Given the description of an element on the screen output the (x, y) to click on. 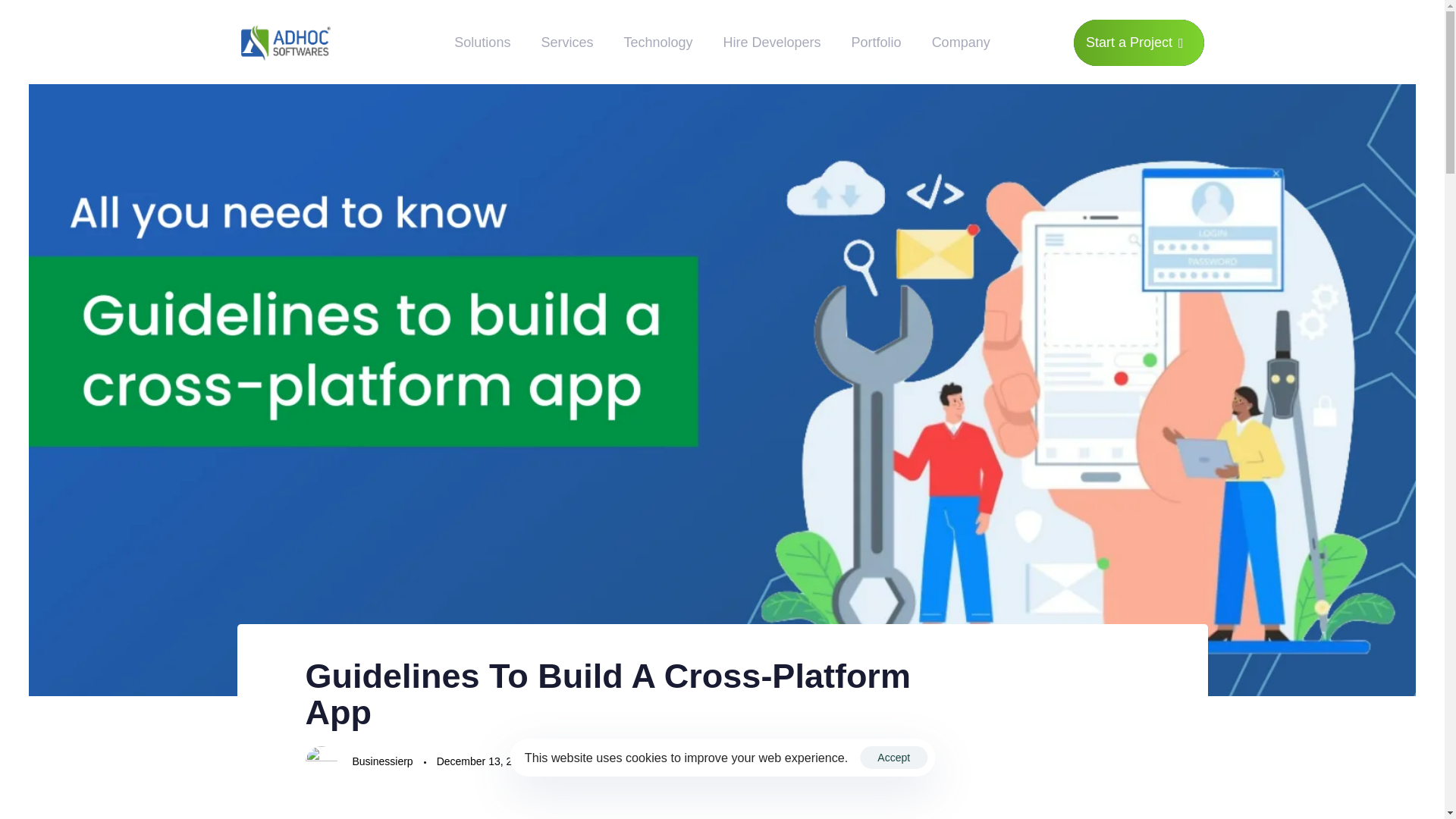
Solutions (482, 42)
Services (566, 42)
Posts by Businessierp (382, 761)
Technology (657, 42)
Hire Developers (771, 42)
